Given the description of an element on the screen output the (x, y) to click on. 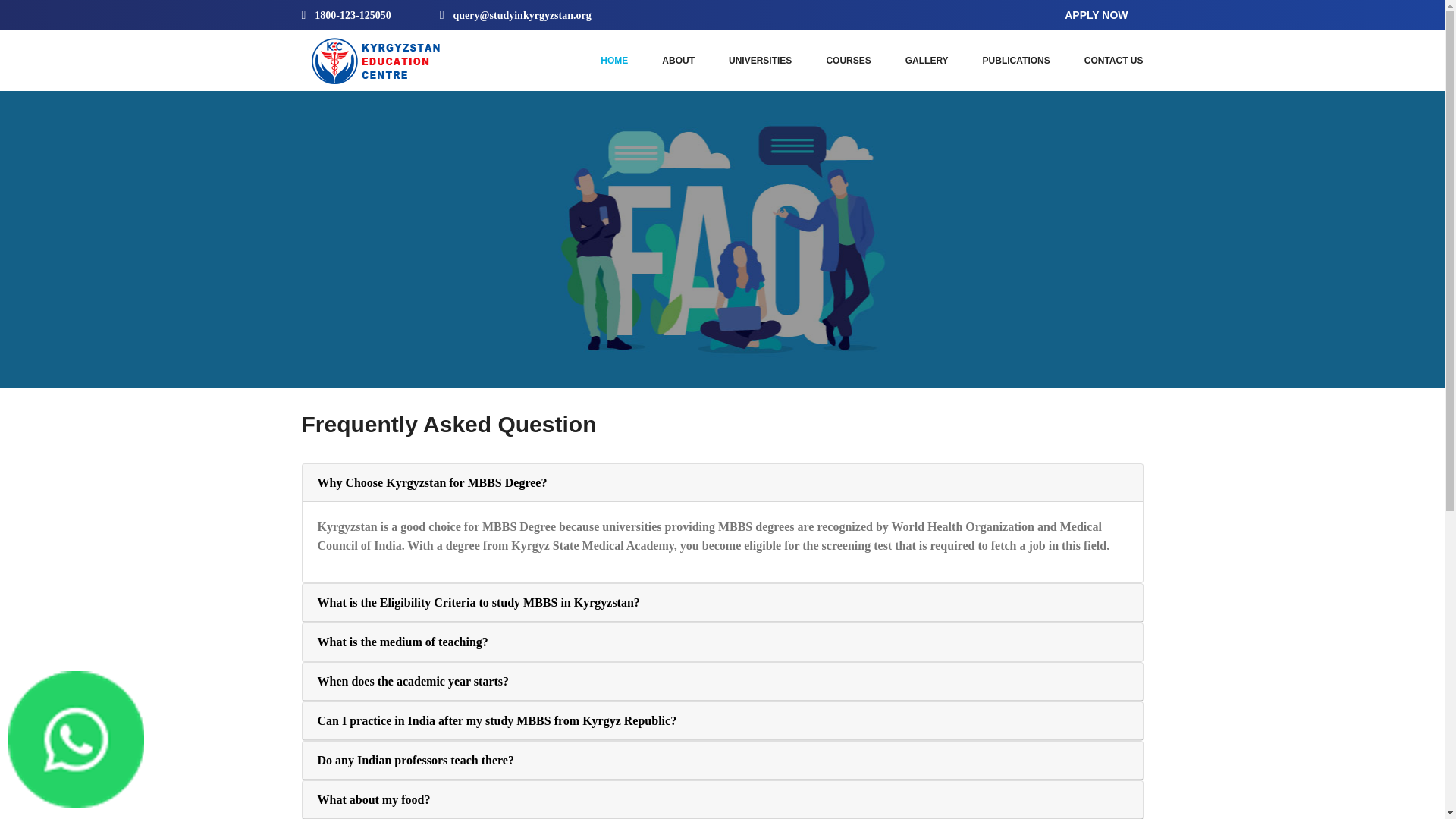
PUBLICATIONS (1015, 60)
1800-123-125050 (347, 14)
UNIVERSITIES (760, 60)
CONTACT US (1113, 60)
Do any Indian professors teach there? (415, 759)
APPLY NOW (1095, 15)
Why Choose Kyrgyzstan for MBBS Degree? (432, 481)
When does the academic year starts? (412, 680)
What is the medium of teaching? (402, 641)
What about my food? (373, 799)
